Given the description of an element on the screen output the (x, y) to click on. 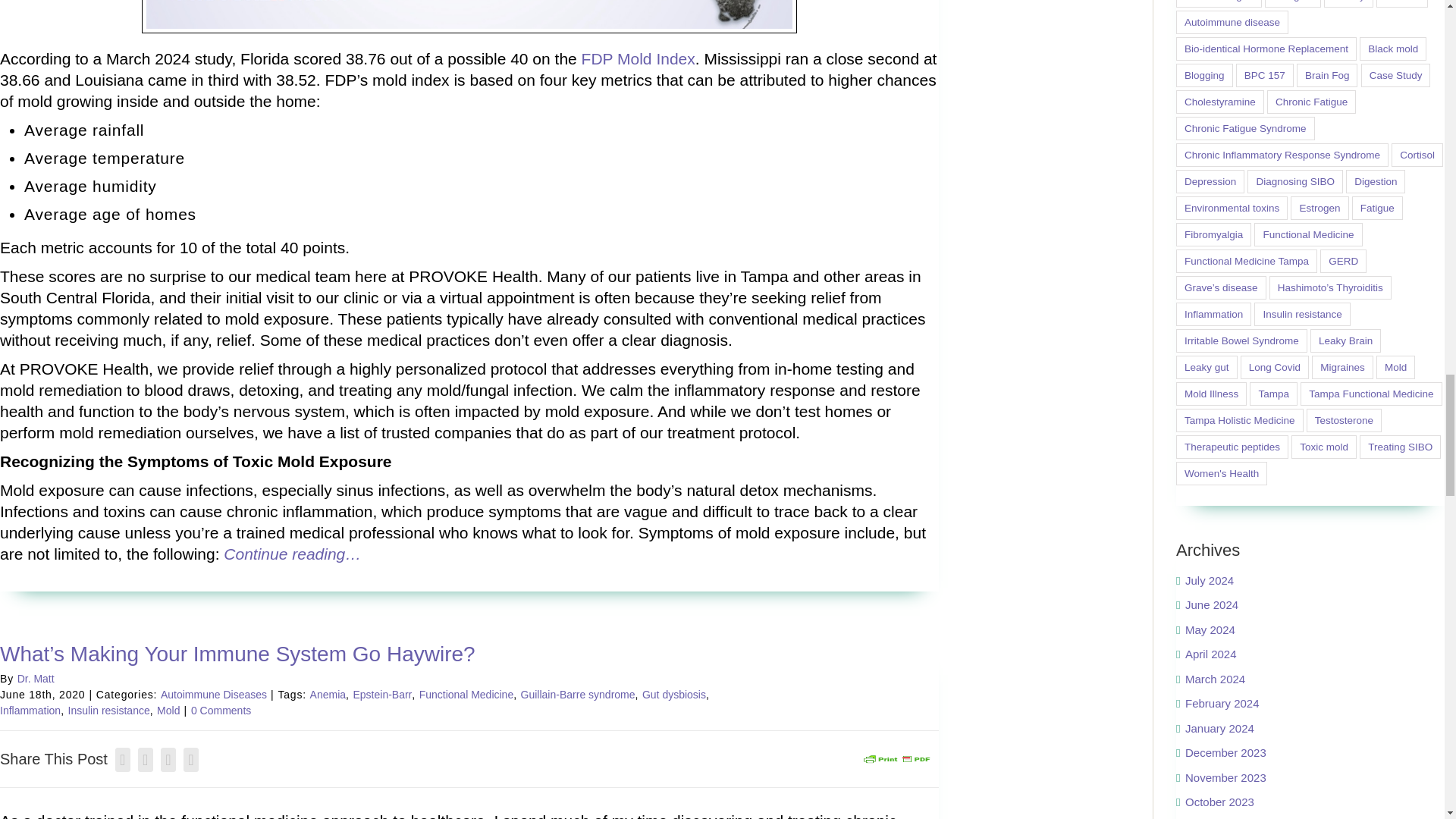
Posts by Dr. Matt (36, 678)
